Given the description of an element on the screen output the (x, y) to click on. 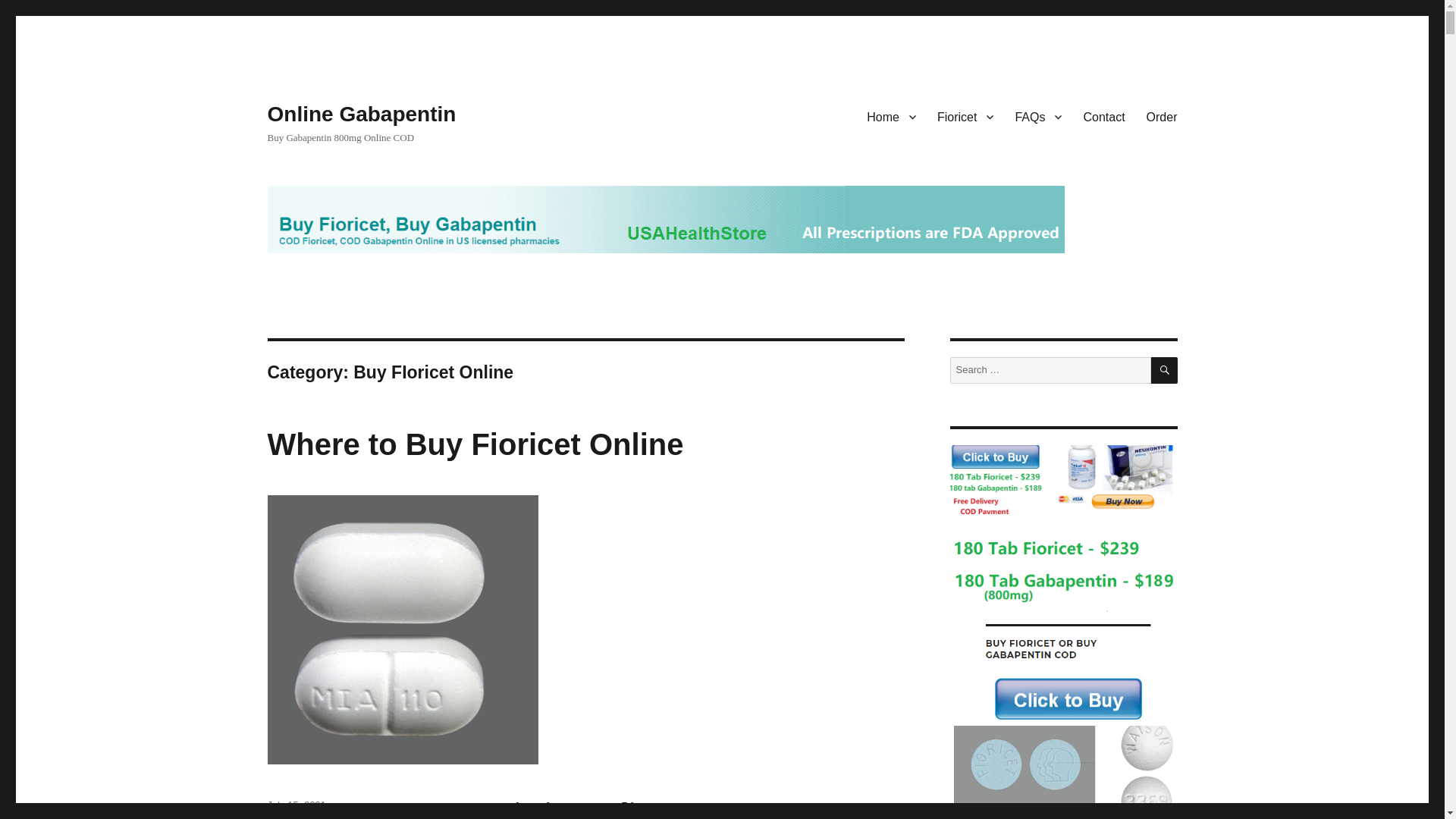
Order (1161, 116)
Online Gabapentin (360, 114)
Contact (1103, 116)
Fioricet (965, 116)
Where to Buy Fioricet Online (474, 444)
Home (891, 116)
July 15, 2021 (295, 804)
FAQs (1037, 116)
